Given the description of an element on the screen output the (x, y) to click on. 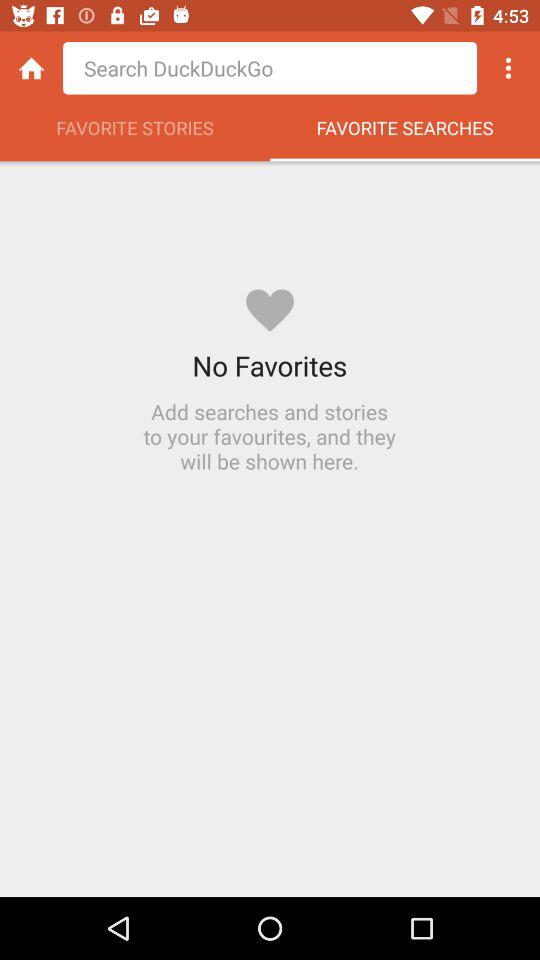
turn on the favorite searches (405, 133)
